Given the description of an element on the screen output the (x, y) to click on. 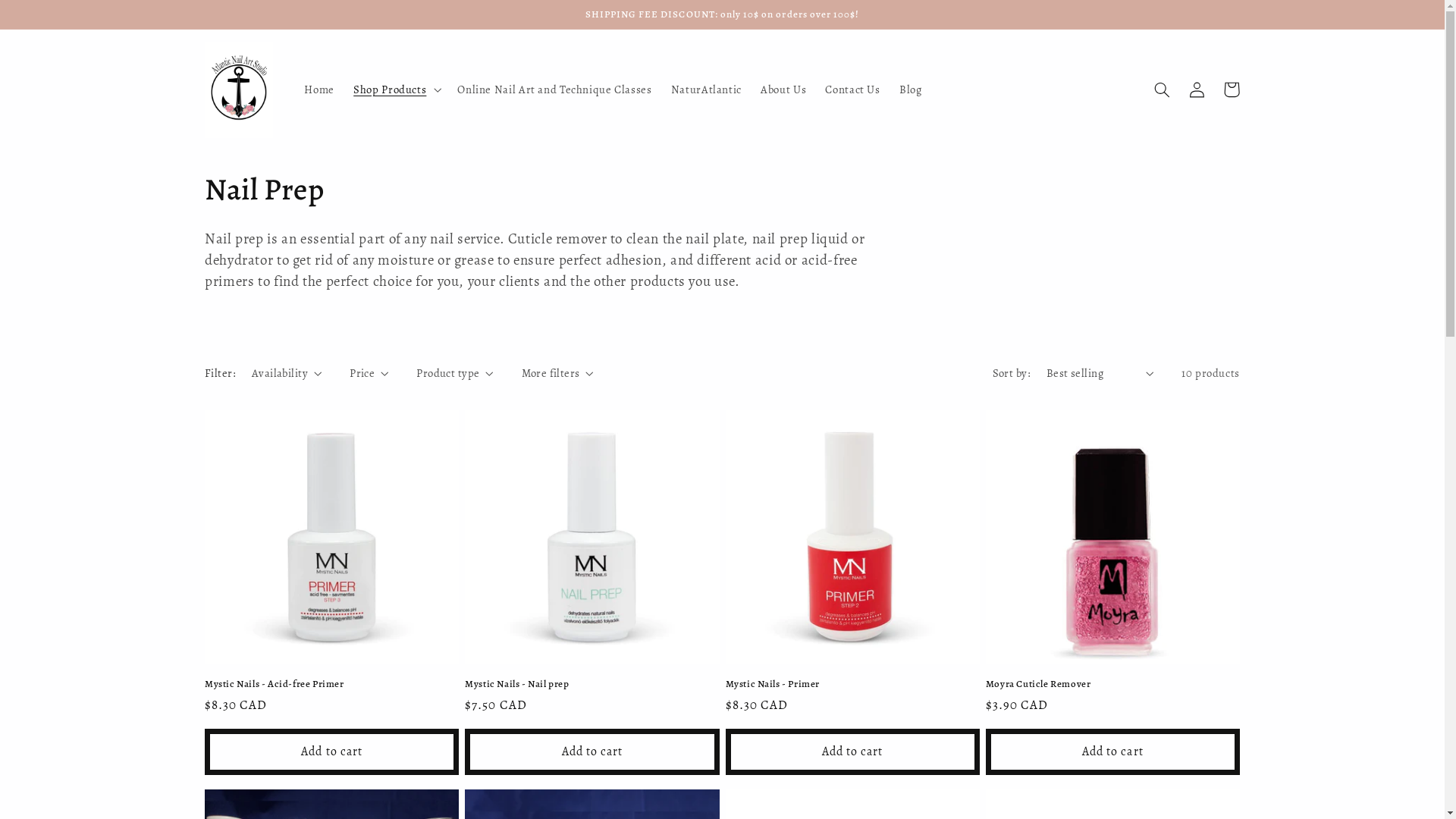
NaturAtlantic Element type: text (705, 89)
Mystic Nails - Nail prep Element type: text (591, 683)
Log in Element type: text (1196, 89)
Add to cart Element type: text (1112, 751)
Mystic Nails - Acid-free Primer Element type: text (331, 683)
About Us Element type: text (783, 89)
Mystic Nails - Primer Element type: text (851, 683)
Online Nail Art and Technique Classes Element type: text (555, 89)
Add to cart Element type: text (591, 751)
Cart Element type: text (1231, 89)
Add to cart Element type: text (851, 751)
Home Element type: text (319, 89)
Moyra Cuticle Remover Element type: text (1112, 683)
Blog Element type: text (910, 89)
Add to cart Element type: text (331, 751)
Contact Us Element type: text (852, 89)
